Given the description of an element on the screen output the (x, y) to click on. 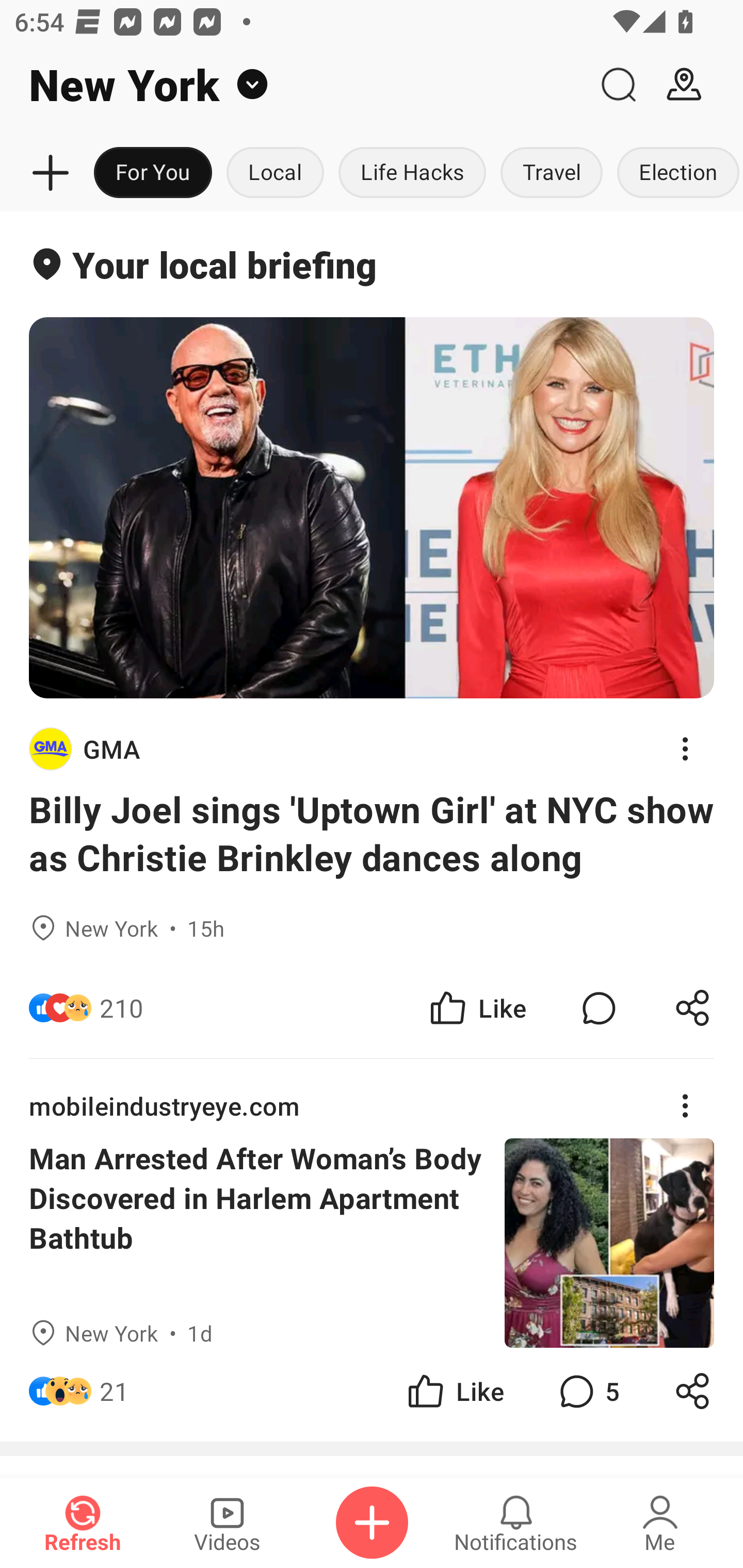
New York (292, 84)
For You (152, 172)
Local (275, 172)
Life Hacks (412, 172)
Travel (551, 172)
Election (676, 172)
210 (121, 1007)
Like (476, 1007)
21 (114, 1391)
Like (454, 1391)
5 (587, 1391)
Videos (227, 1522)
Notifications (516, 1522)
Me (659, 1522)
